Given the description of an element on the screen output the (x, y) to click on. 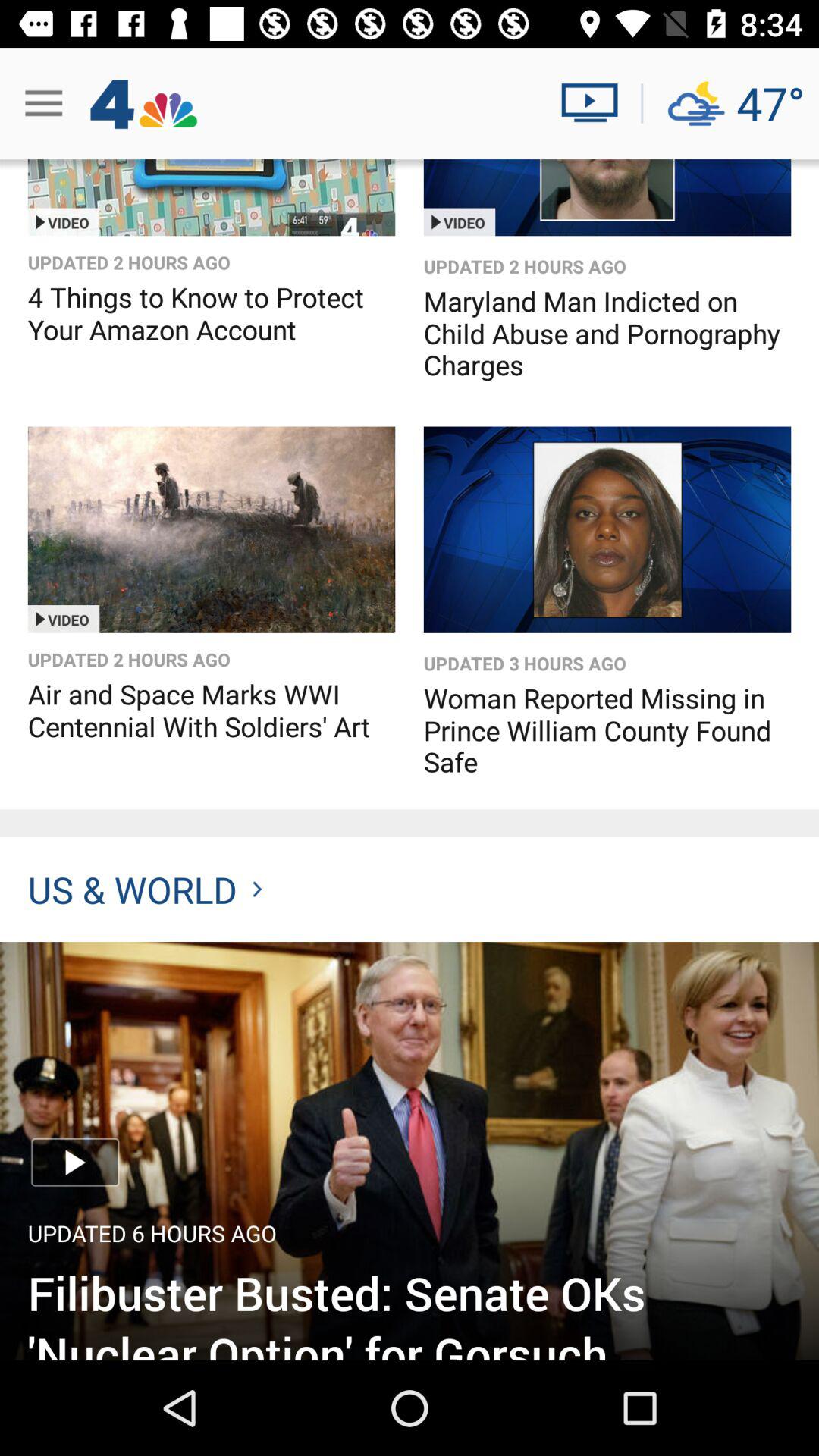
link to a page (211, 197)
